Given the description of an element on the screen output the (x, y) to click on. 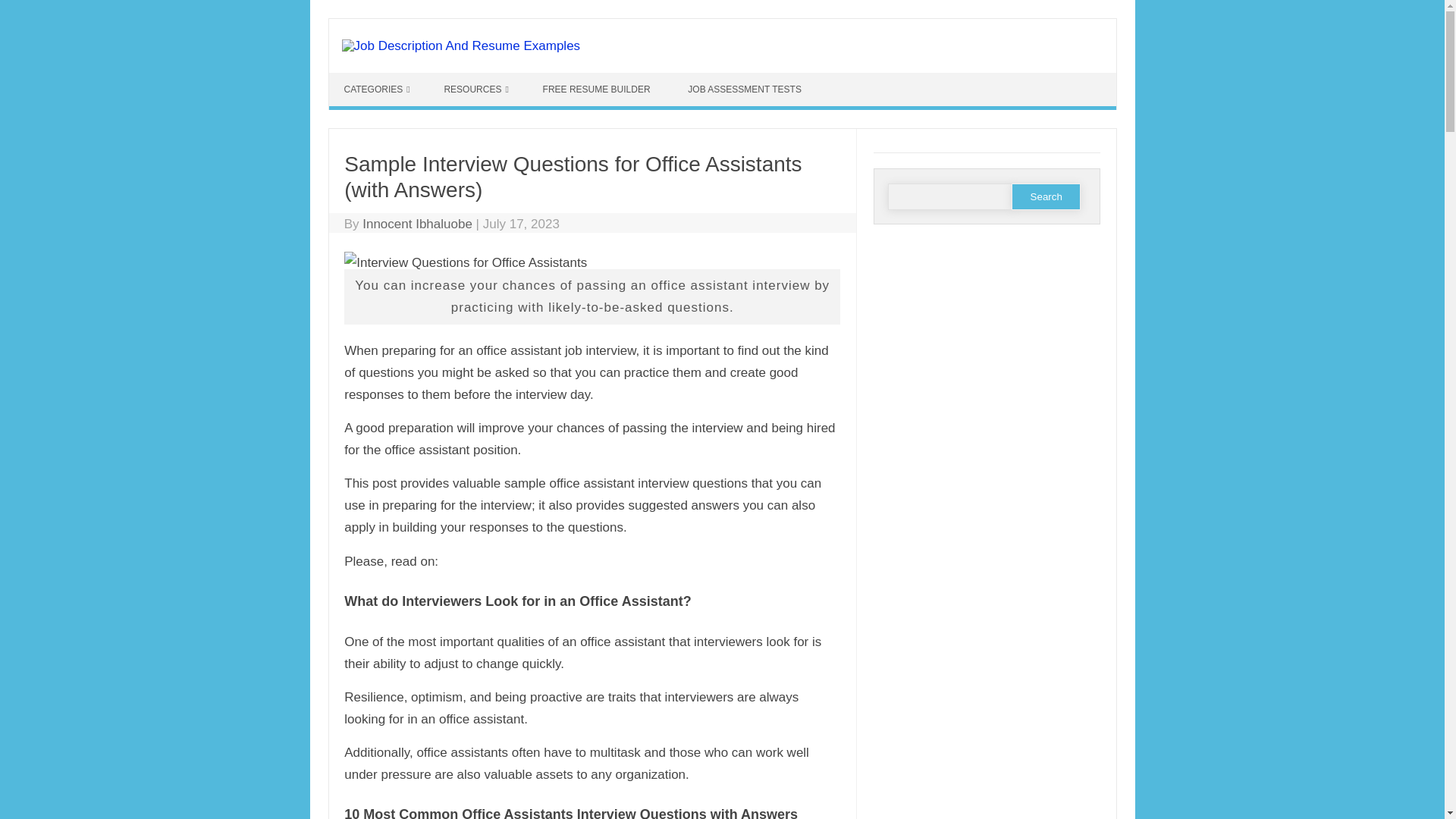
RESOURCES (475, 89)
Search (1045, 196)
Skip to content (371, 78)
Skip to content (371, 78)
Innocent Ibhaluobe (416, 223)
FREE RESUME BUILDER (598, 89)
JOB ASSESSMENT TESTS (746, 89)
Job Description And Resume Examples (459, 45)
Posts by Innocent Ibhaluobe (416, 223)
CATEGORIES (377, 89)
